Given the description of an element on the screen output the (x, y) to click on. 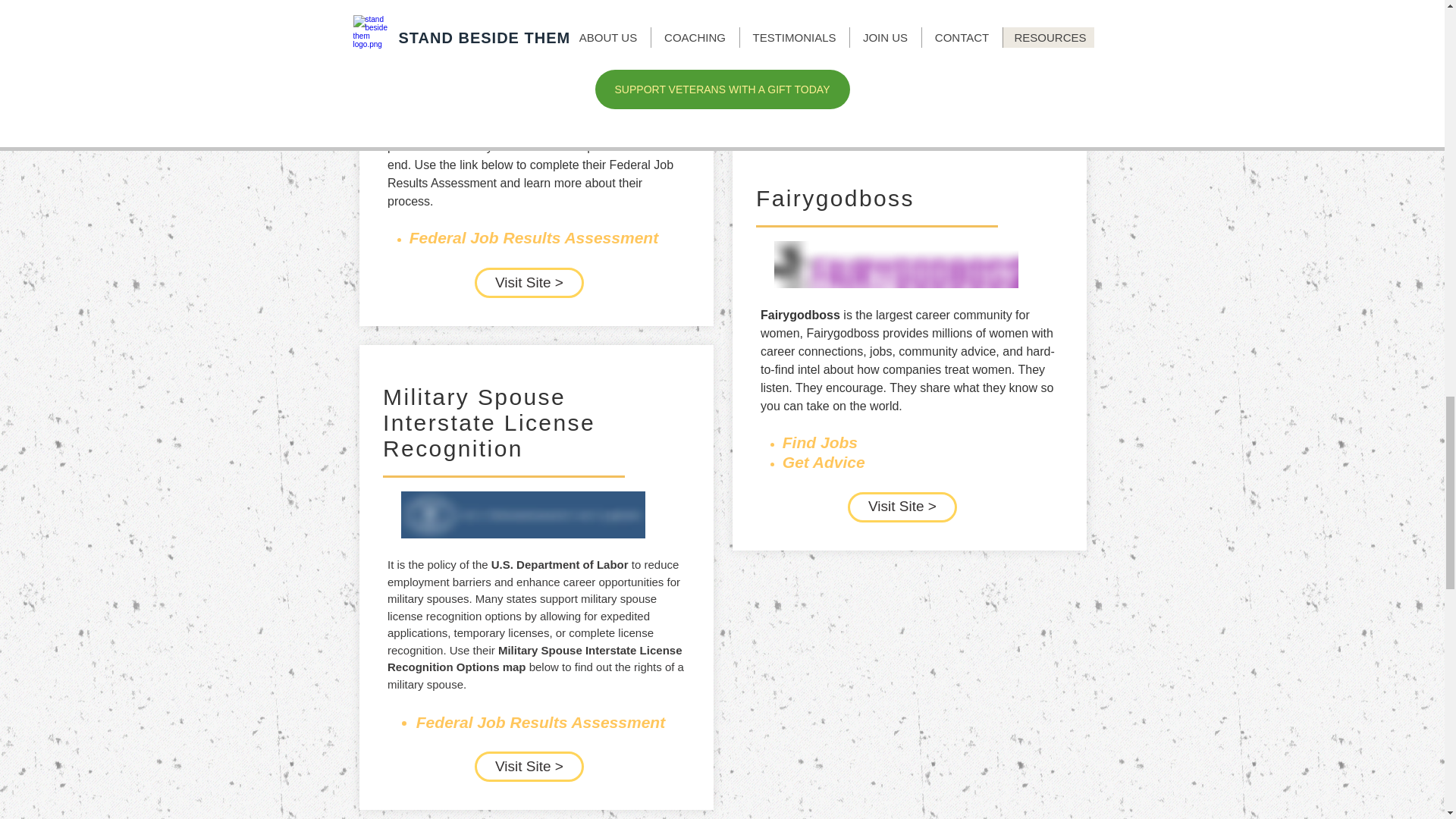
www.acp-usa.org (964, 40)
Federal Job Results Assessment (540, 723)
